Given the description of an element on the screen output the (x, y) to click on. 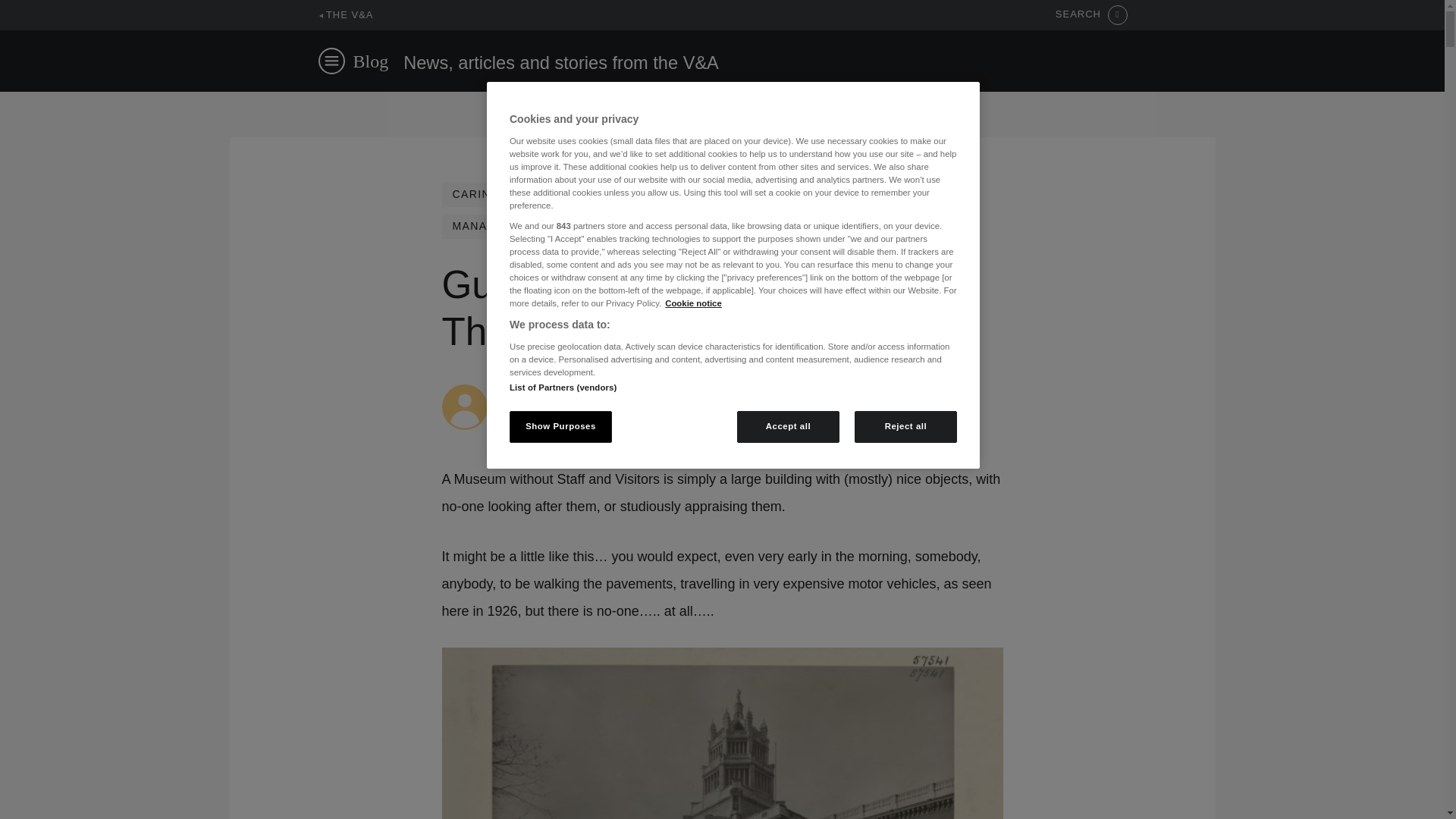
CARING FOR OUR COLLECTIONS (551, 194)
MANAGING OUR COLLECTIONS (545, 226)
CONSERVATION (730, 194)
SEARCH (1090, 15)
Blog (370, 60)
Posts by Steve Woodhouse (546, 391)
Steve Woodhouse (546, 391)
